Given the description of an element on the screen output the (x, y) to click on. 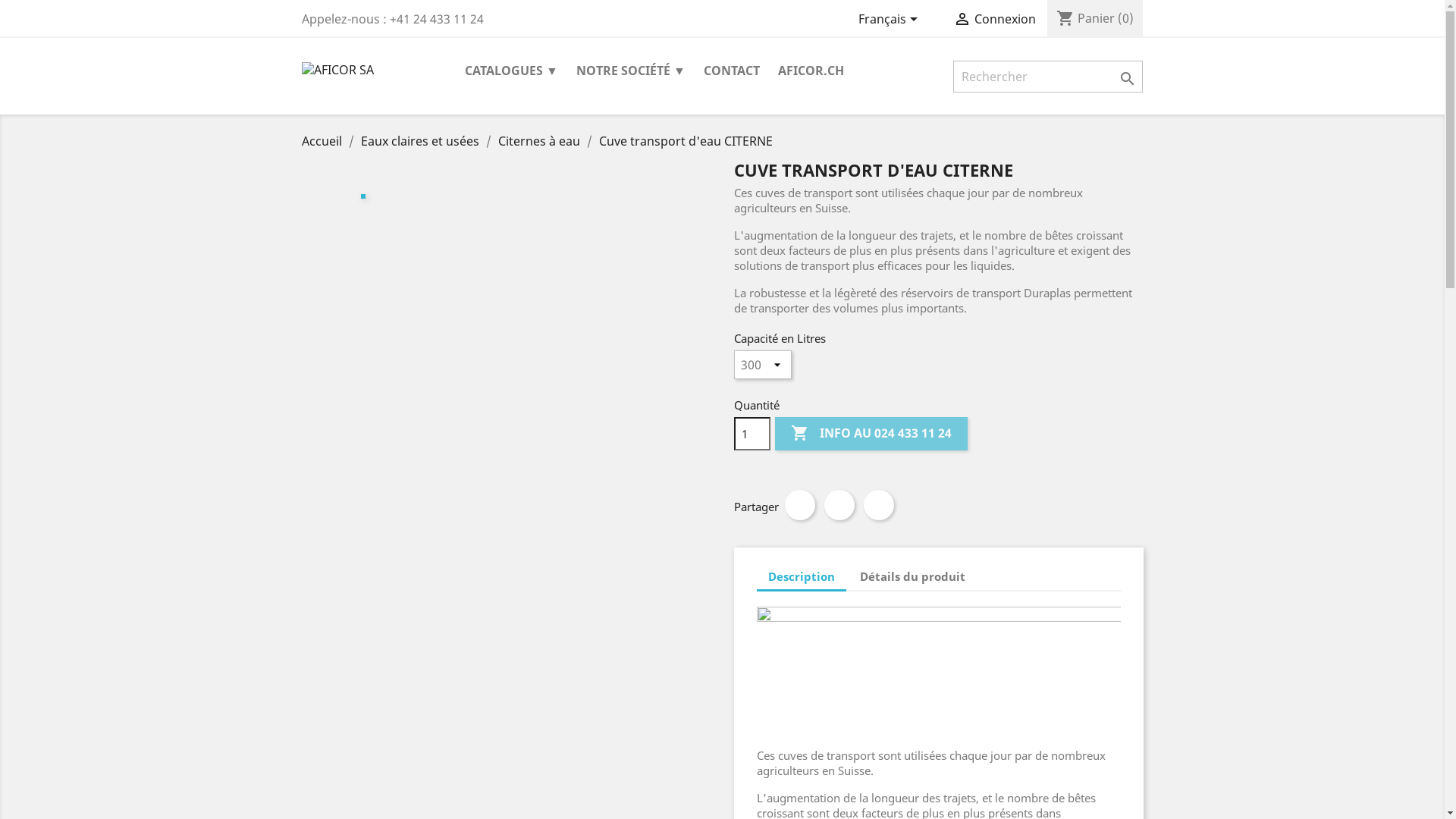
Partager Element type: text (799, 504)
Tweet Element type: text (838, 504)
Description Element type: text (801, 576)
AFICOR.CH Element type: text (810, 71)
Pinterest Element type: text (877, 504)
Accueil Element type: text (323, 140)
Cuve transport d'eau CITERNE Element type: text (685, 140)
CONTACT Element type: text (731, 71)
